Given the description of an element on the screen output the (x, y) to click on. 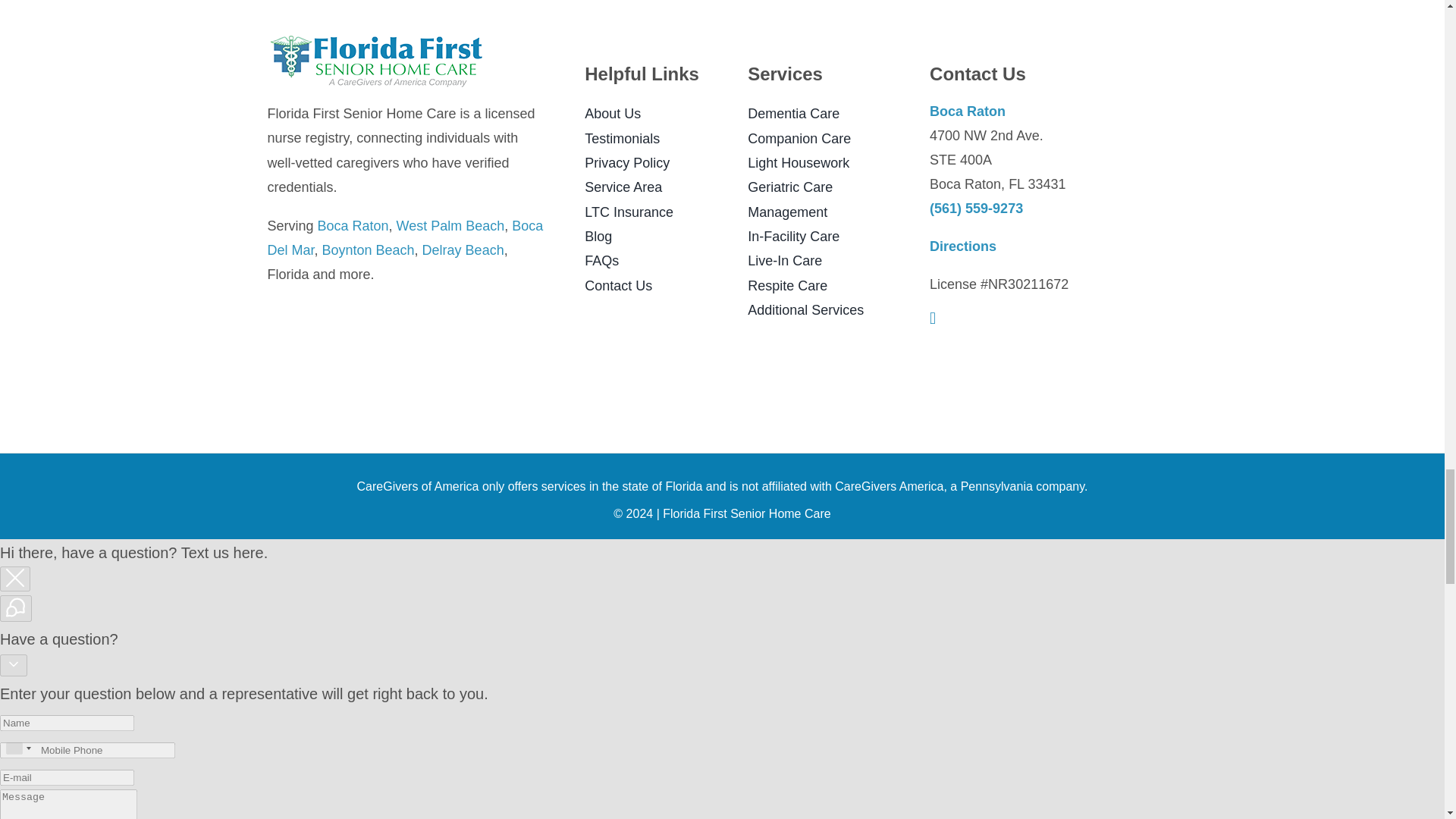
10-years-of-care (372, 361)
